Given the description of an element on the screen output the (x, y) to click on. 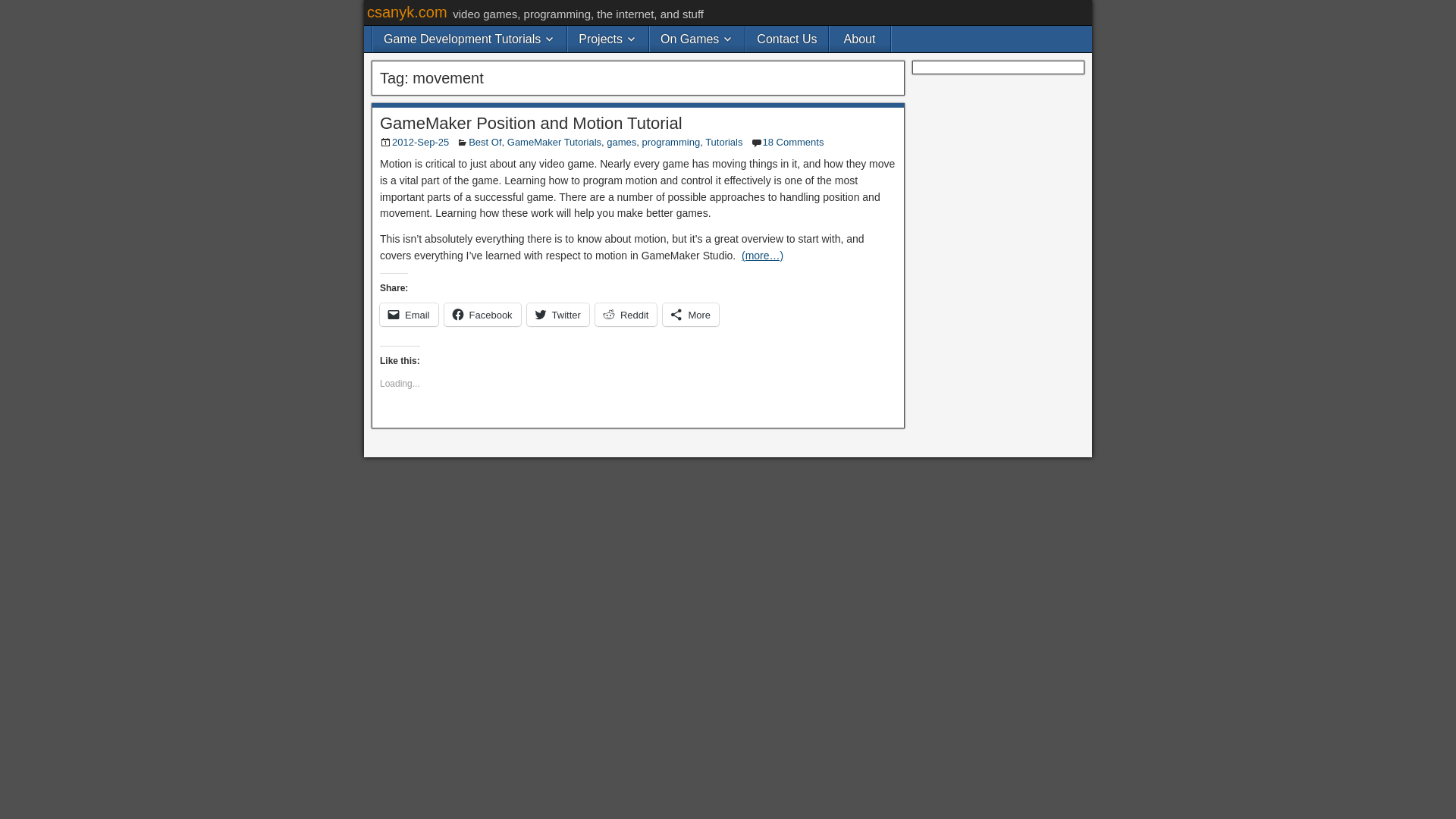
Click to share on Facebook (482, 314)
Game Development Tutorials (469, 38)
Click to share on Twitter (558, 314)
Projects (607, 38)
Click to email a link to a friend (409, 314)
Click to share on Reddit (626, 314)
csanyk.com (406, 12)
